Given the description of an element on the screen output the (x, y) to click on. 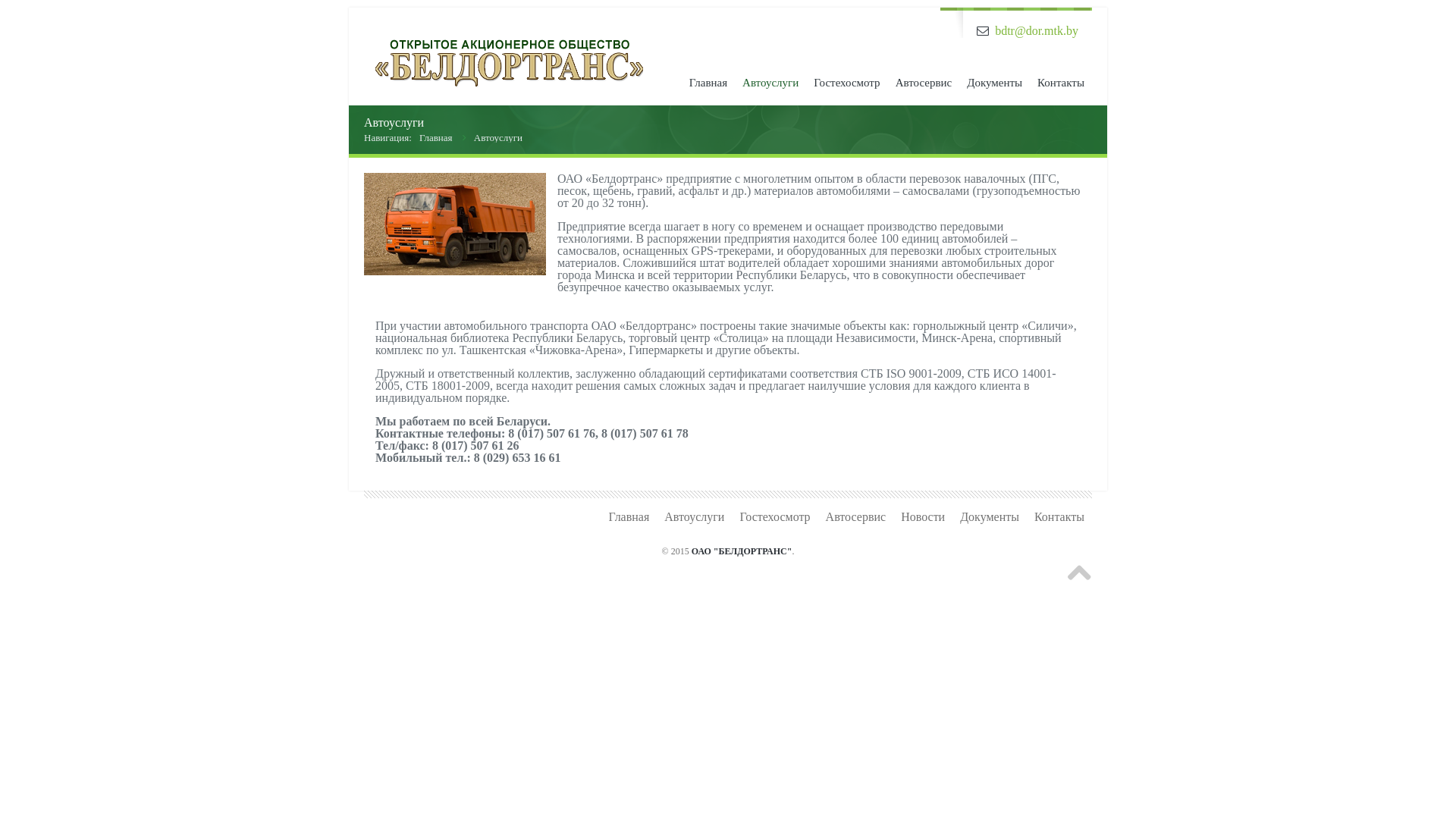
bdtr@dor.mtk.by Element type: text (1036, 30)
